Given the description of an element on the screen output the (x, y) to click on. 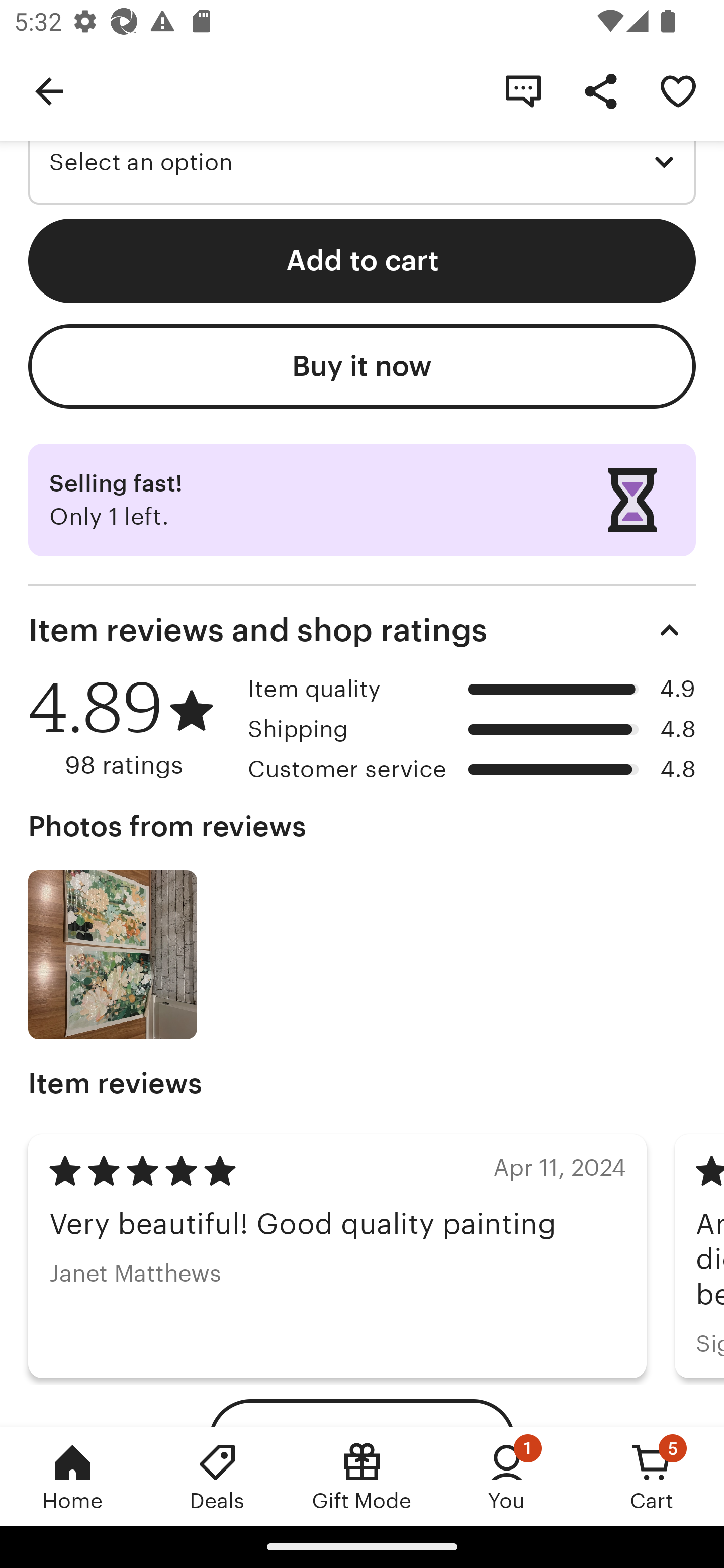
Navigate up (49, 90)
Contact shop (523, 90)
Share (600, 90)
Select an option (361, 161)
Add to cart (361, 259)
Buy it now (361, 366)
Item reviews and shop ratings (362, 629)
4.89 98 ratings (130, 727)
Photo from review (112, 954)
Deals (216, 1475)
Gift Mode (361, 1475)
You, 1 new notification You (506, 1475)
Cart, 5 new notifications Cart (651, 1475)
